Given the description of an element on the screen output the (x, y) to click on. 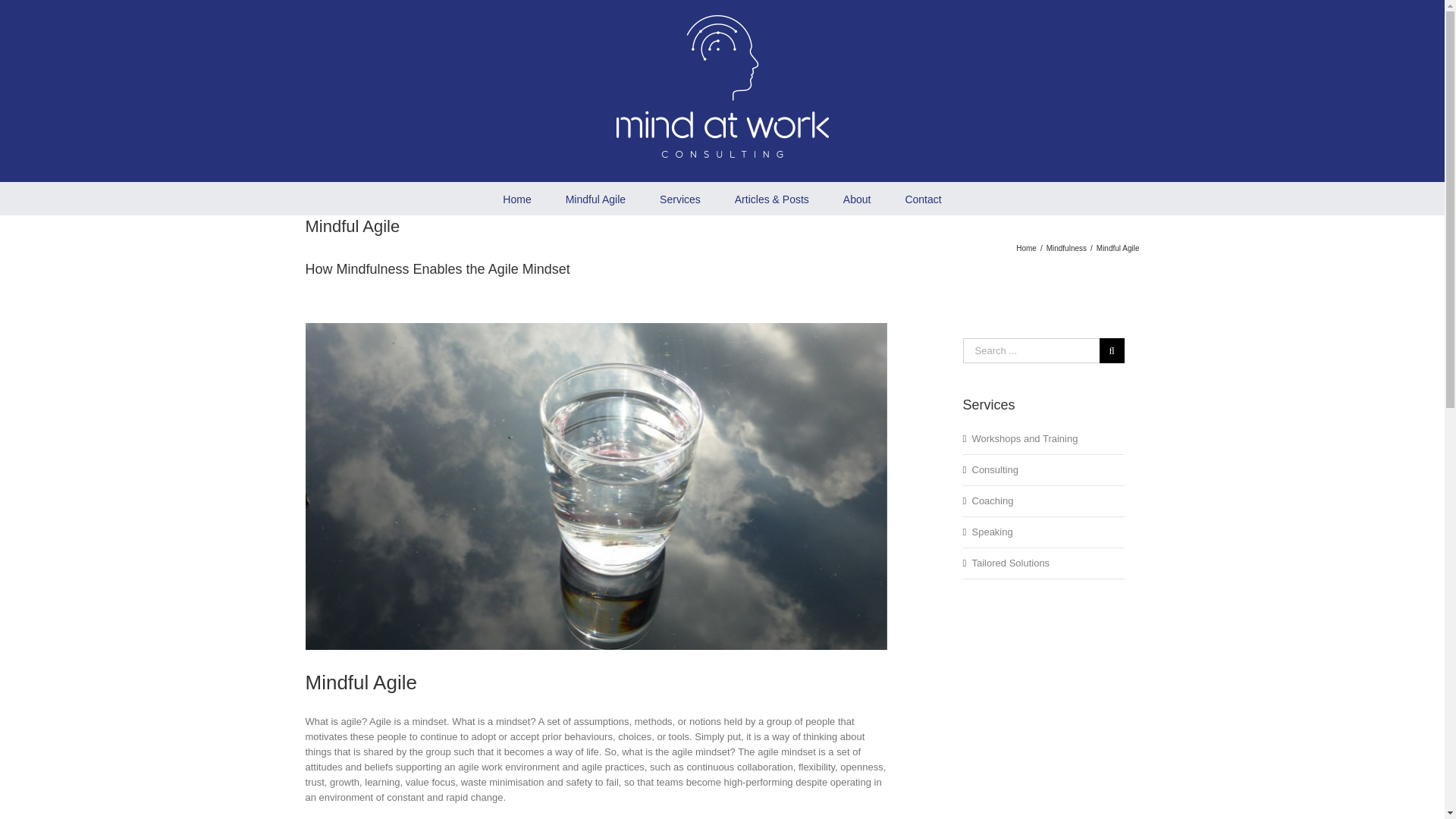
Home (1026, 248)
Tailored Solutions (1010, 562)
Coaching (992, 500)
Speaking (992, 531)
Contact (922, 197)
Mindfulness (1066, 248)
Consulting (994, 469)
Workshops and Training (1025, 438)
Services (679, 197)
